Given the description of an element on the screen output the (x, y) to click on. 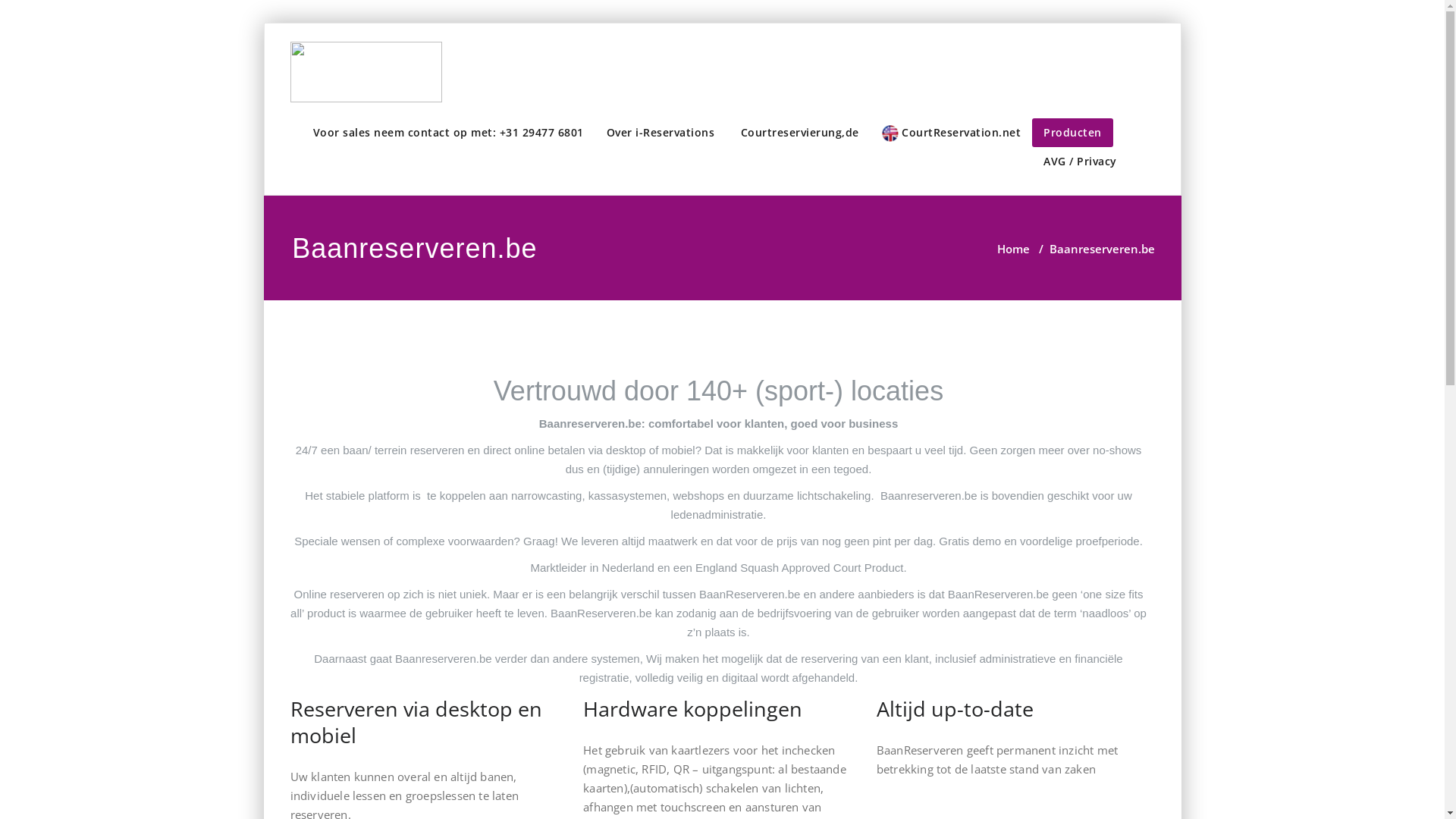
Voor sales neem contact op met: +31 29477 6801 Element type: text (448, 132)
Home Element type: text (1012, 248)
CourtReservation.net Element type: text (951, 133)
Over i-Reservations Element type: text (659, 132)
Courtreservierung,de Element type: text (797, 132)
Producten Element type: text (1072, 132)
Reserveren via desktop en mobiel Element type: text (415, 721)
Hardware koppelingen Element type: text (692, 708)
Altijd up-to-date Element type: text (954, 708)
AVG / Privacy Element type: text (1080, 161)
